Given the description of an element on the screen output the (x, y) to click on. 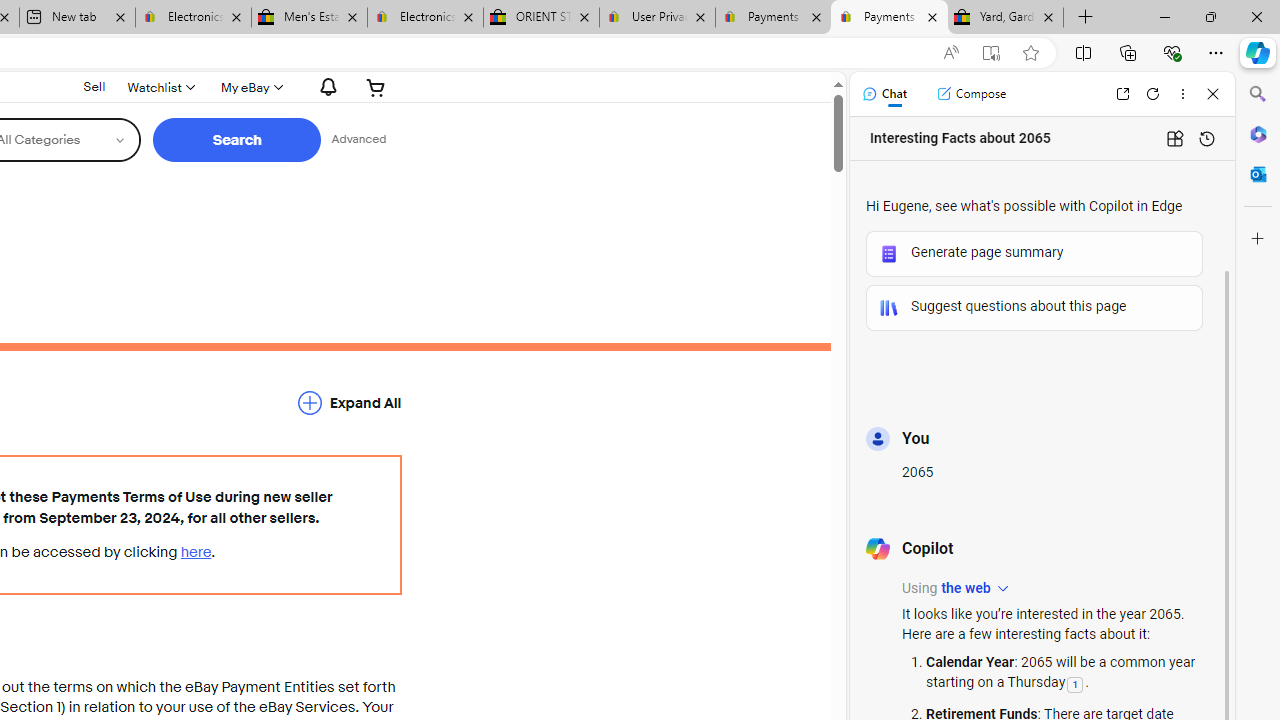
Compose (971, 93)
here (196, 552)
WatchlistExpand Watch List (159, 87)
Yard, Garden & Outdoor Living (1005, 17)
Sell (94, 87)
User Privacy Notice | eBay (657, 17)
